Given the description of an element on the screen output the (x, y) to click on. 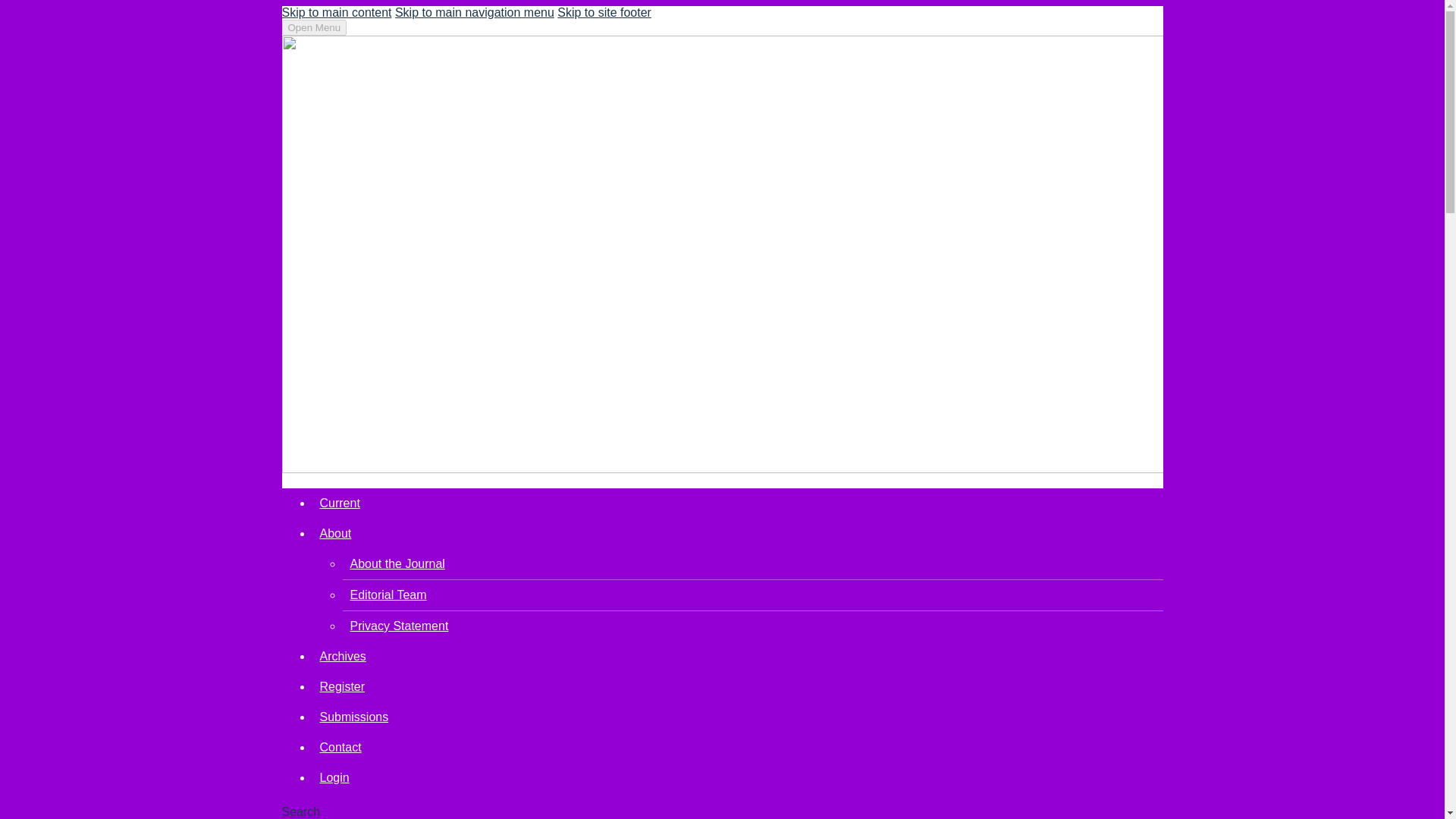
Skip to site footer (603, 11)
Login (334, 777)
Submissions (354, 716)
About the Journal (397, 563)
Open Menu (314, 27)
About (336, 533)
Archives (343, 656)
Privacy Statement (399, 625)
Register (342, 686)
Skip to main navigation menu (474, 11)
